Given the description of an element on the screen output the (x, y) to click on. 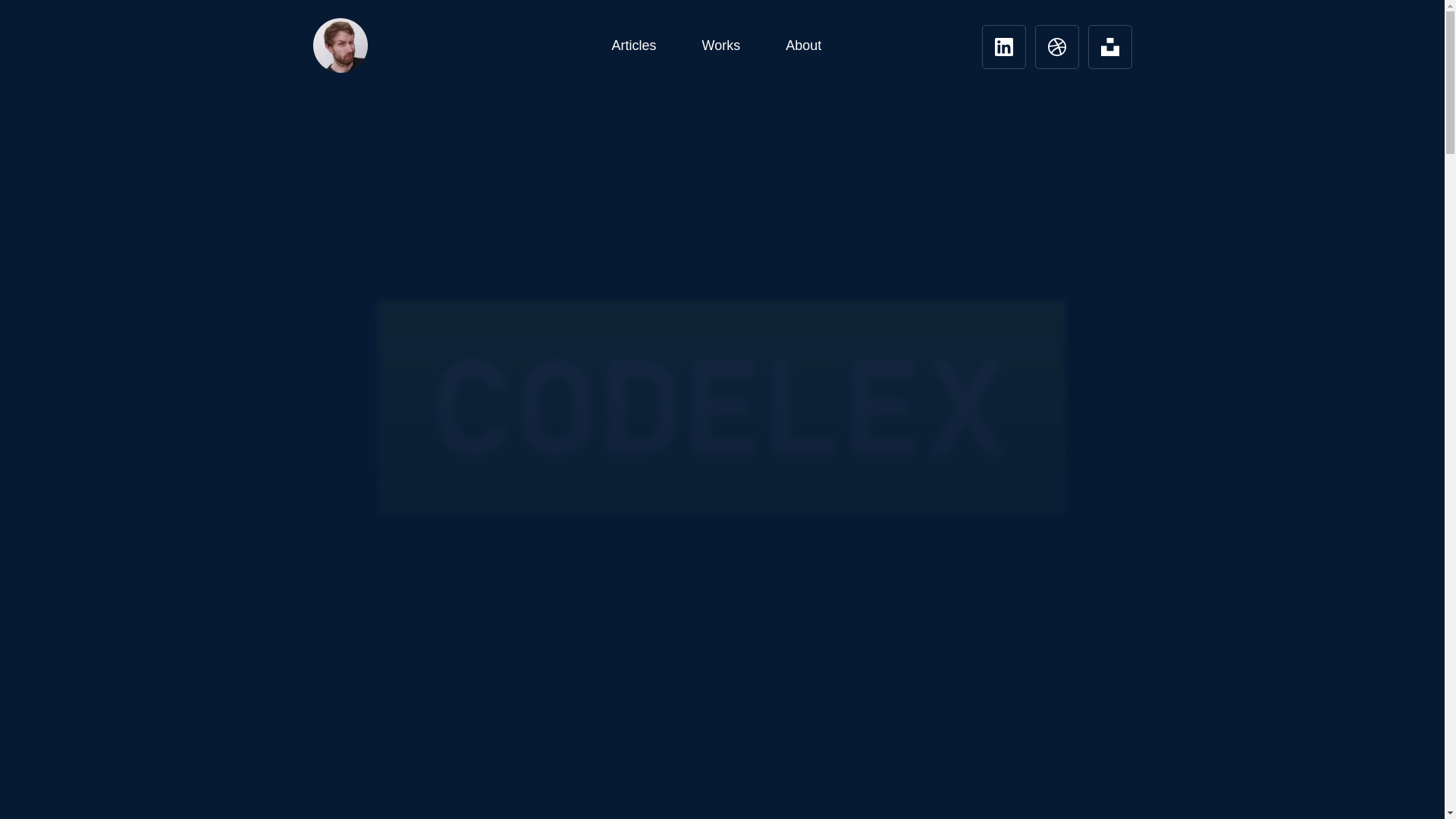
About (803, 45)
Articles (633, 45)
Works (721, 45)
